Given the description of an element on the screen output the (x, y) to click on. 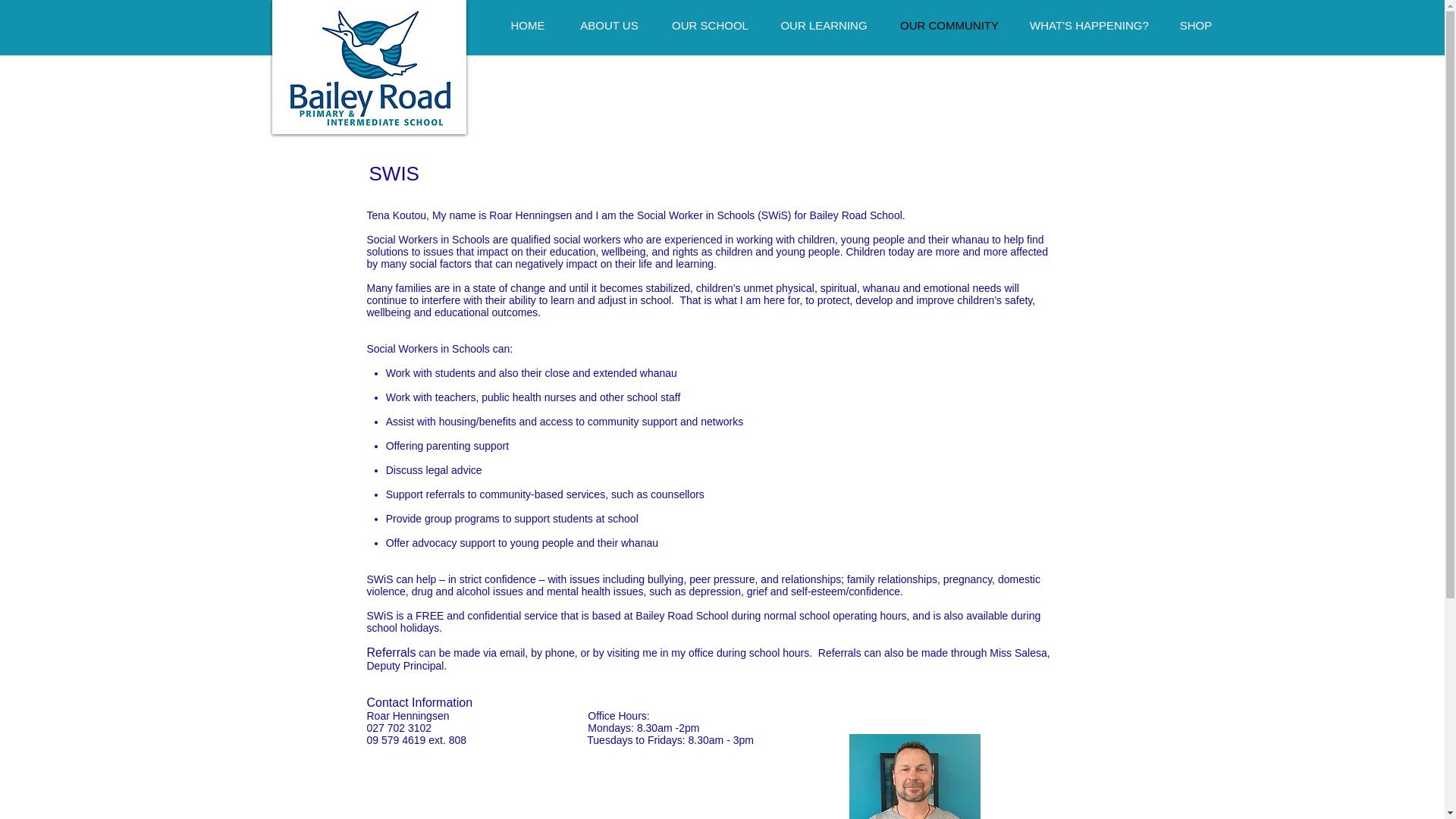
ABOUT US (608, 25)
OUR COMMUNITY (948, 25)
OUR SCHOOL (709, 25)
SHOP (1195, 25)
HOME (528, 25)
WHAT'S HAPPENING? (1089, 25)
OUR LEARNING (823, 25)
